Given the description of an element on the screen output the (x, y) to click on. 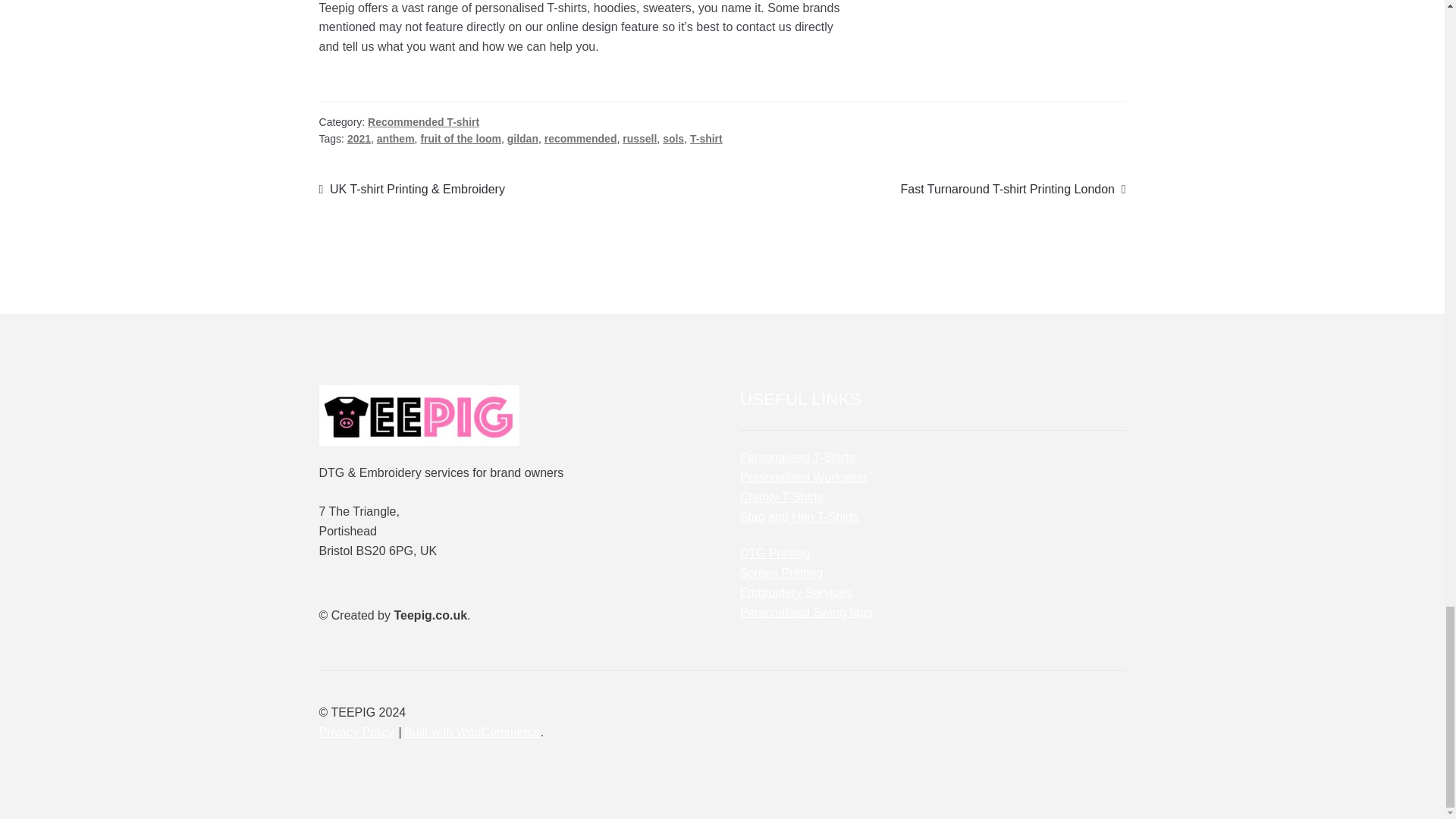
Custom T-Shirt Printing (797, 457)
Personalised Workwear (803, 477)
Charity T-Shirt Printing (781, 496)
Direct to Garment Printing (774, 553)
Screen Printing (780, 572)
Embroidery Services (795, 592)
Personalised Stag and Hen Shirts (799, 516)
